Given the description of an element on the screen output the (x, y) to click on. 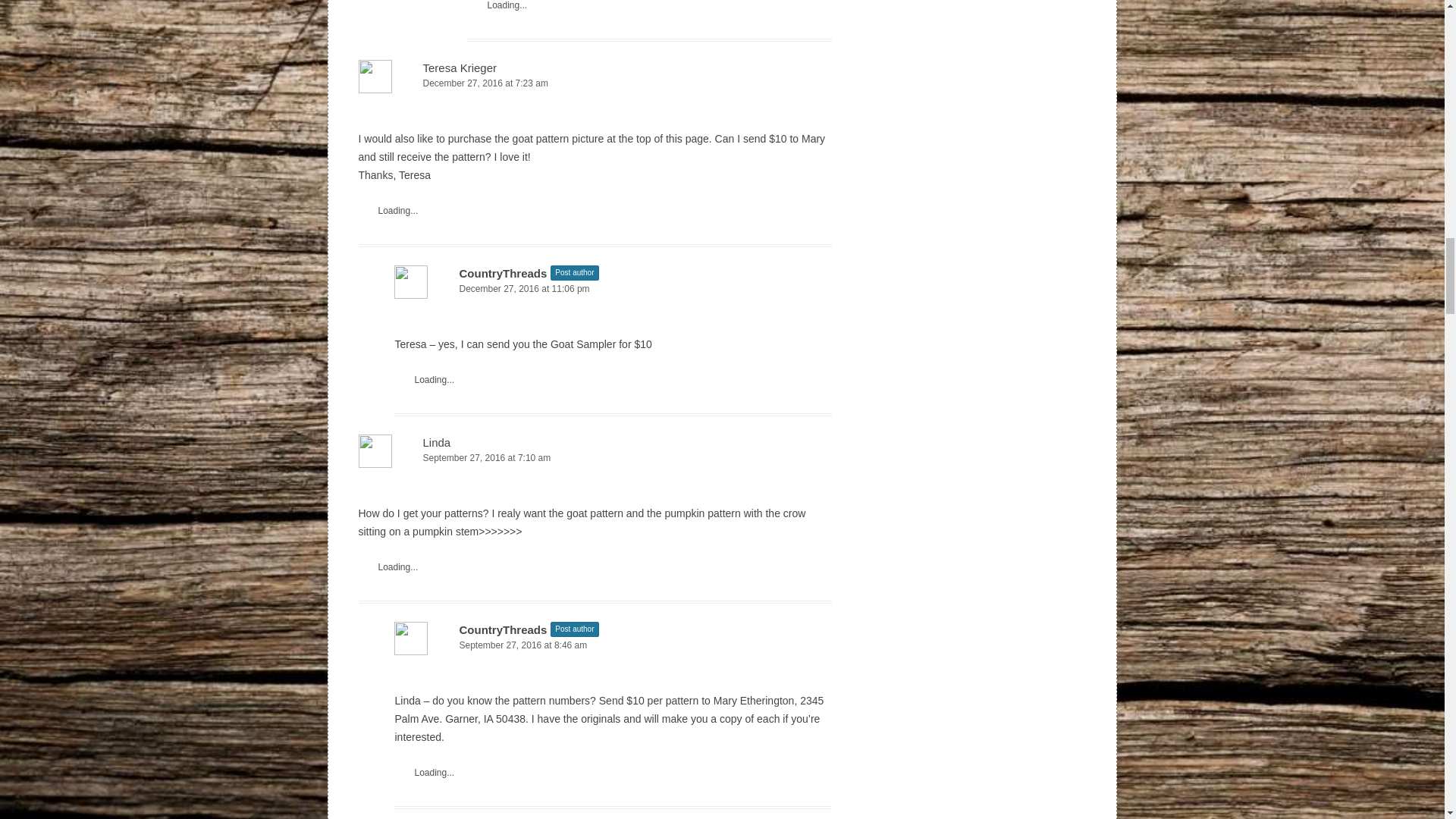
December 27, 2016 at 11:06 pm (612, 289)
September 27, 2016 at 8:46 am (612, 645)
December 27, 2016 at 7:23 am (594, 83)
September 27, 2016 at 7:10 am (594, 458)
